Given the description of an element on the screen output the (x, y) to click on. 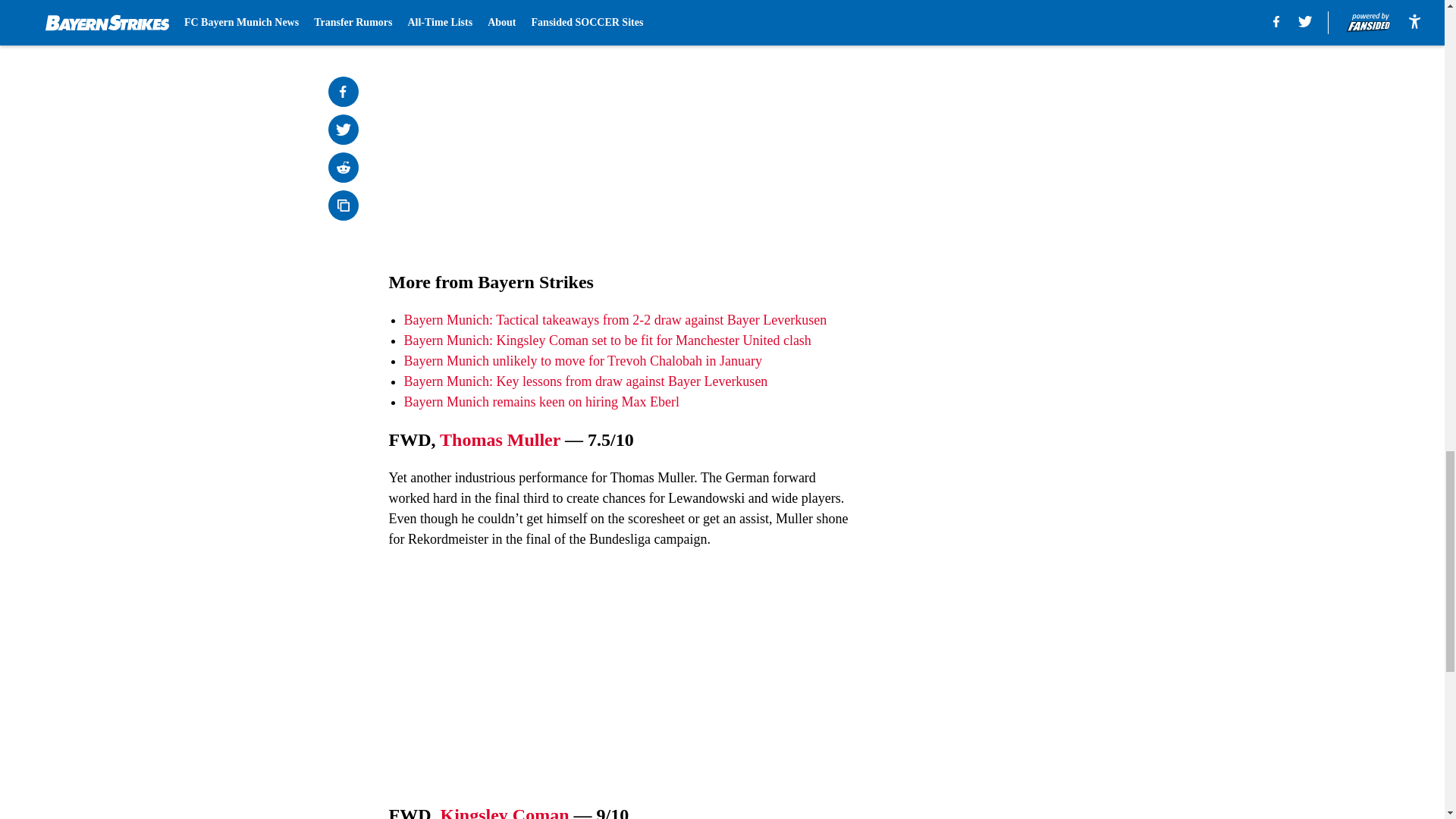
Kingsley Coman (504, 812)
Thomas Muller (499, 439)
Bayern Munich remains keen on hiring Max Eberl (540, 401)
